Given the description of an element on the screen output the (x, y) to click on. 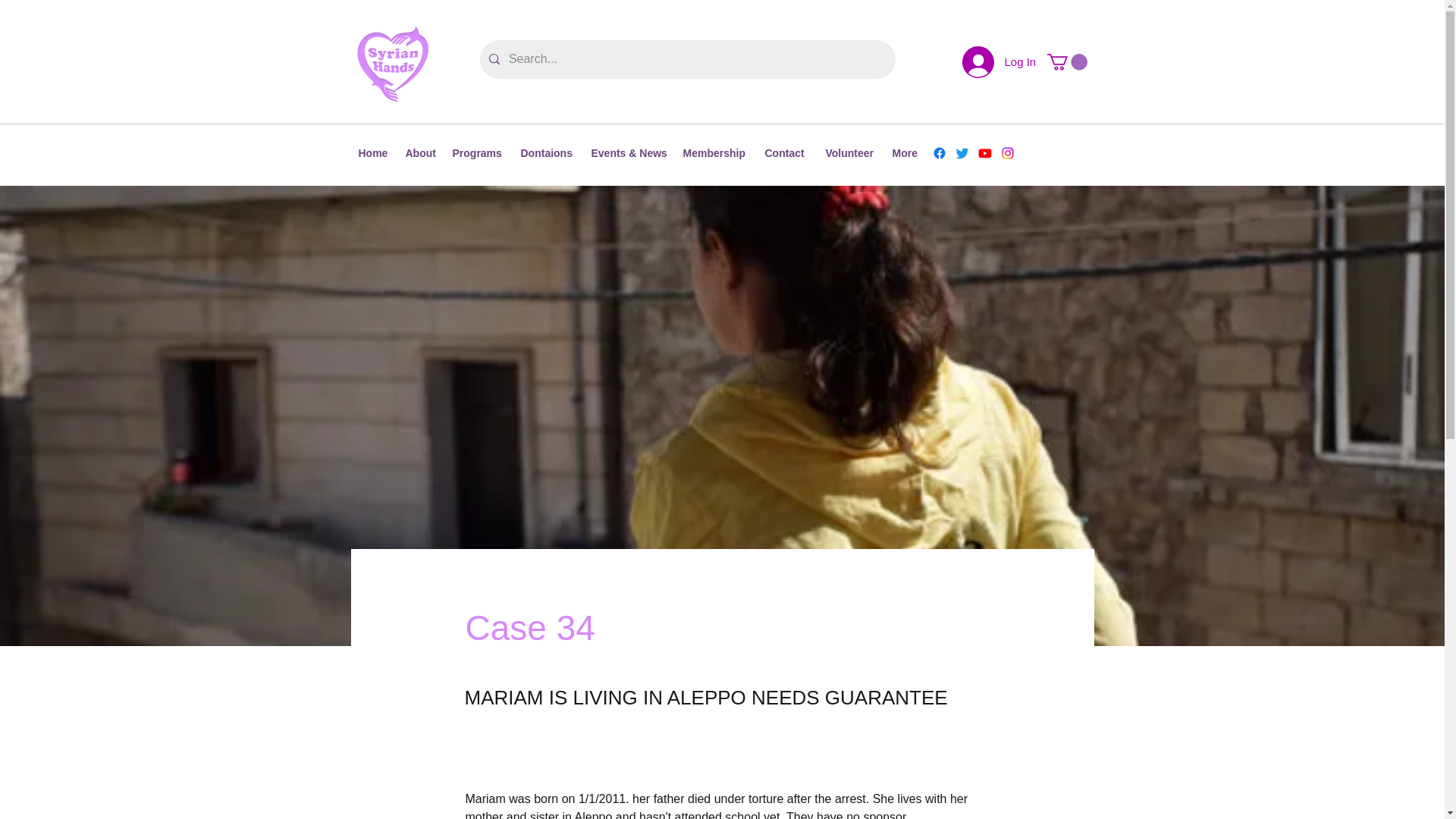
Membership (716, 152)
Volunteer (849, 152)
Log In (996, 60)
About (420, 152)
Dontaions (547, 152)
Home (373, 152)
Programs (478, 152)
Contact (786, 152)
